Given the description of an element on the screen output the (x, y) to click on. 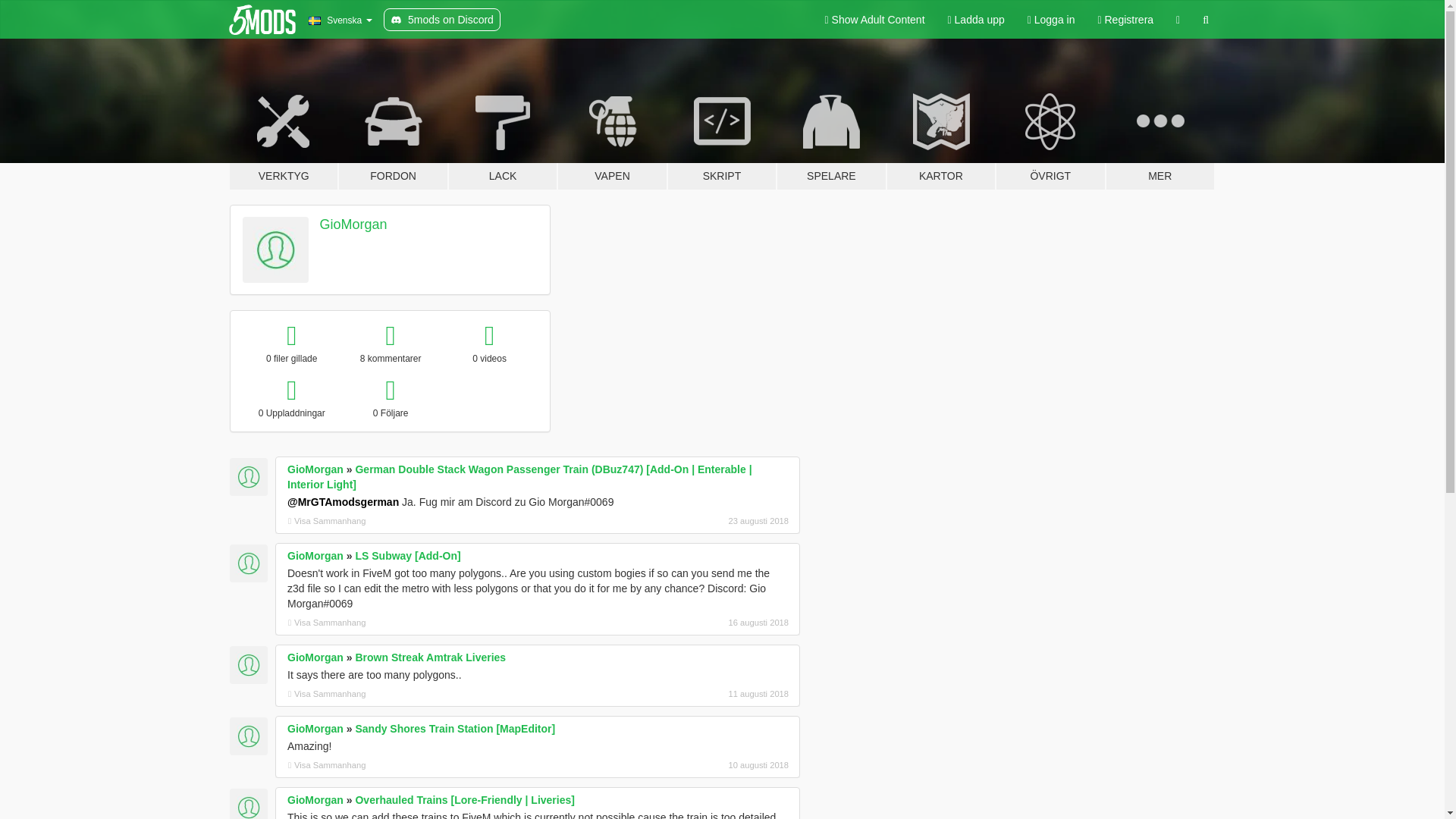
Logga in (1051, 19)
Show Adult Content (874, 19)
Light mode (874, 19)
Ladda upp (976, 19)
  Svenska (339, 19)
Registrera (1125, 19)
5mods on Discord (442, 19)
